Given the description of an element on the screen output the (x, y) to click on. 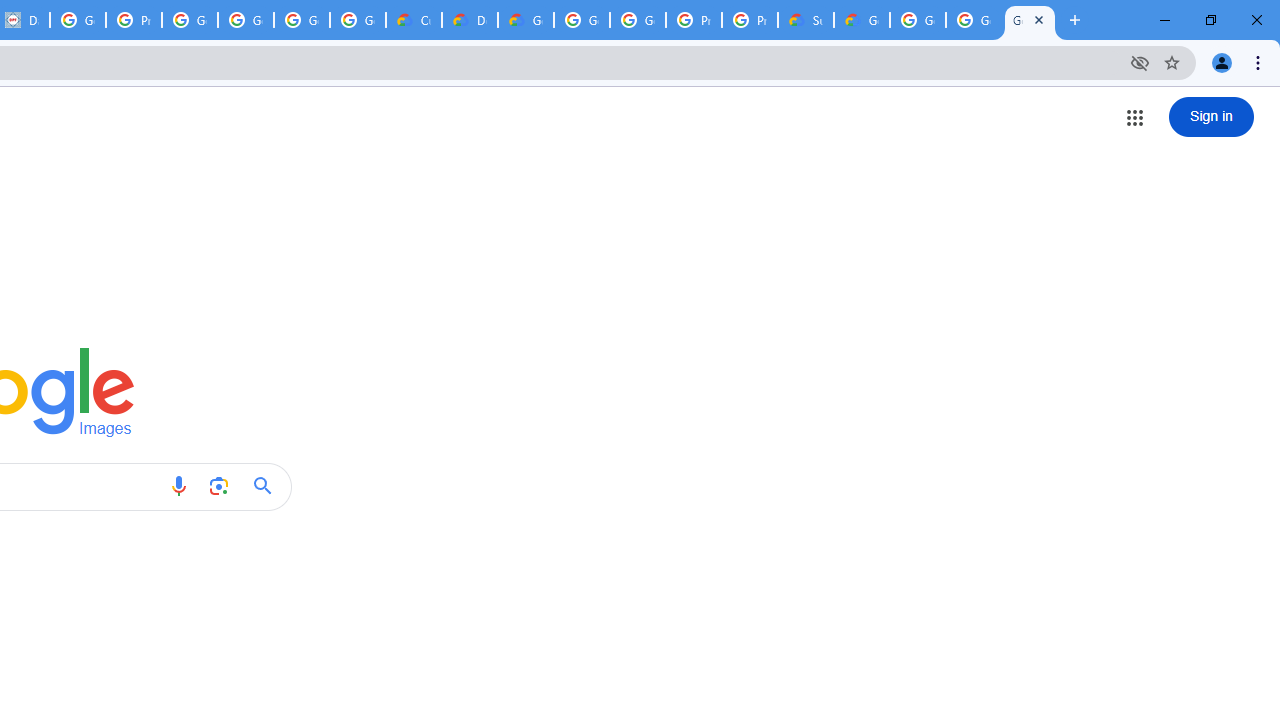
Gemini for Business and Developers | Google Cloud (525, 20)
Google Cloud Service Health (861, 20)
Google Cloud Platform (973, 20)
Support Hub | Google Cloud (806, 20)
Customer Care | Google Cloud (413, 20)
Google Cloud Platform (637, 20)
